Given the description of an element on the screen output the (x, y) to click on. 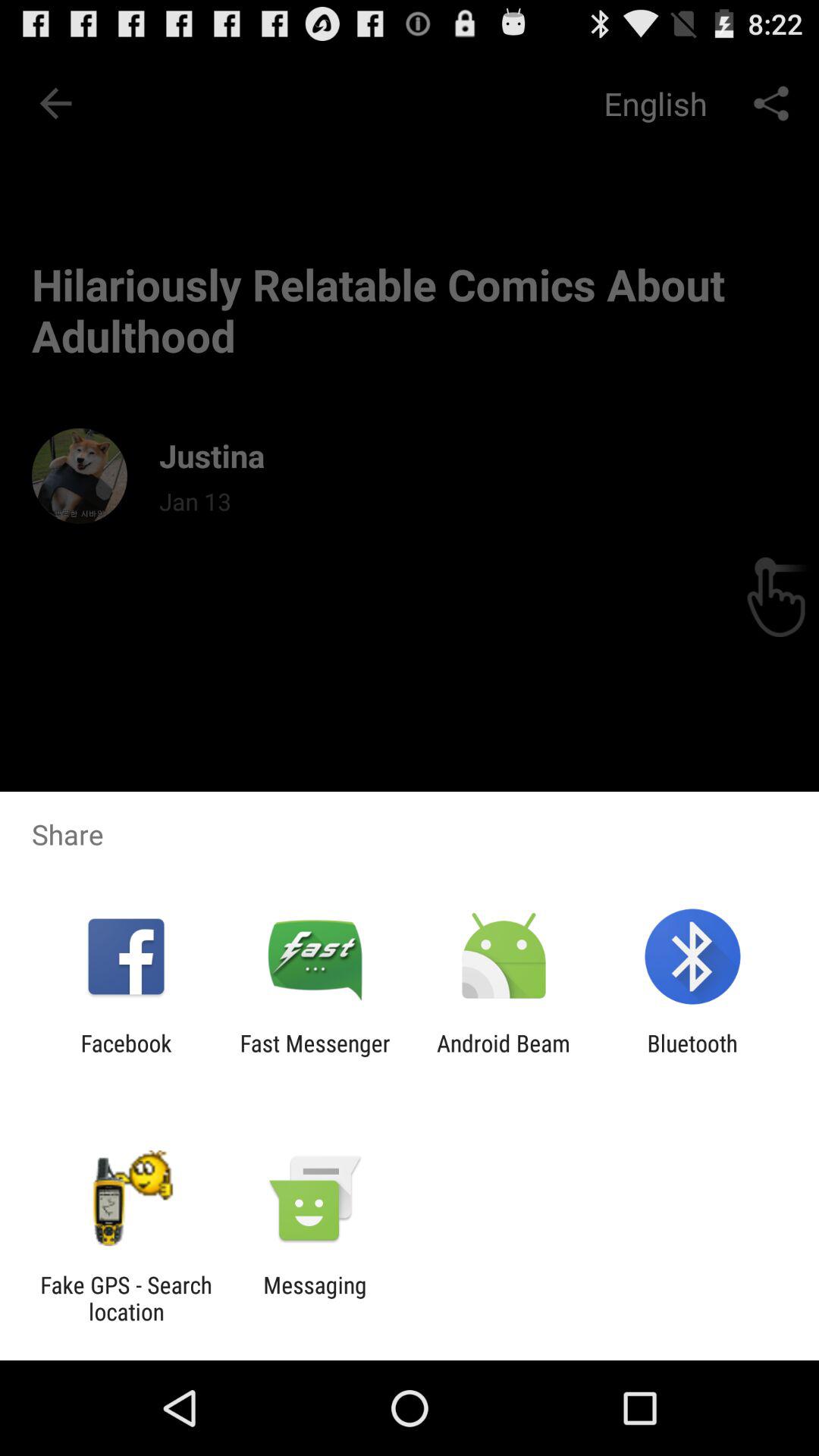
select app next to the android beam icon (692, 1056)
